Given the description of an element on the screen output the (x, y) to click on. 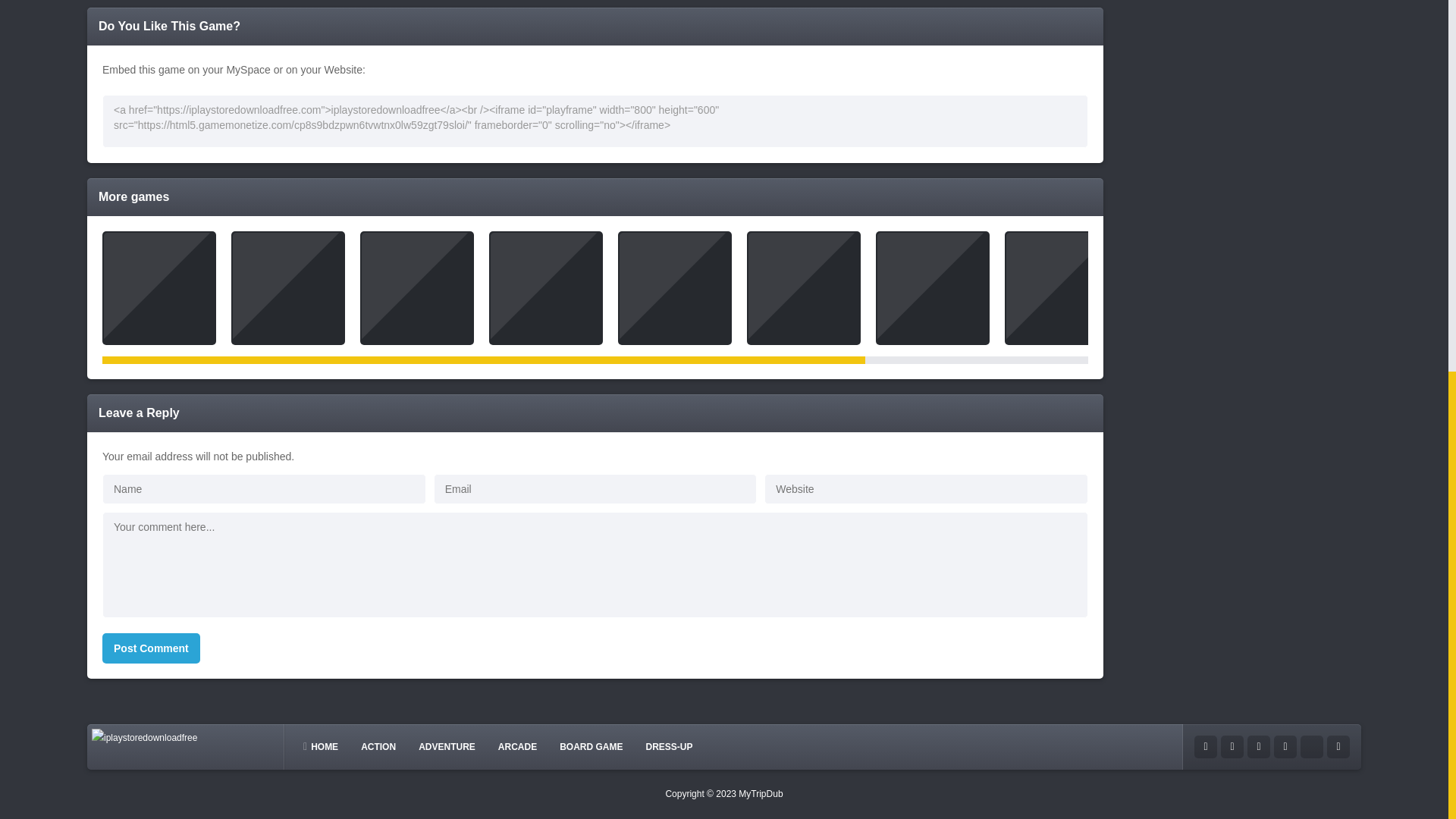
Post Comment (150, 648)
